Given the description of an element on the screen output the (x, y) to click on. 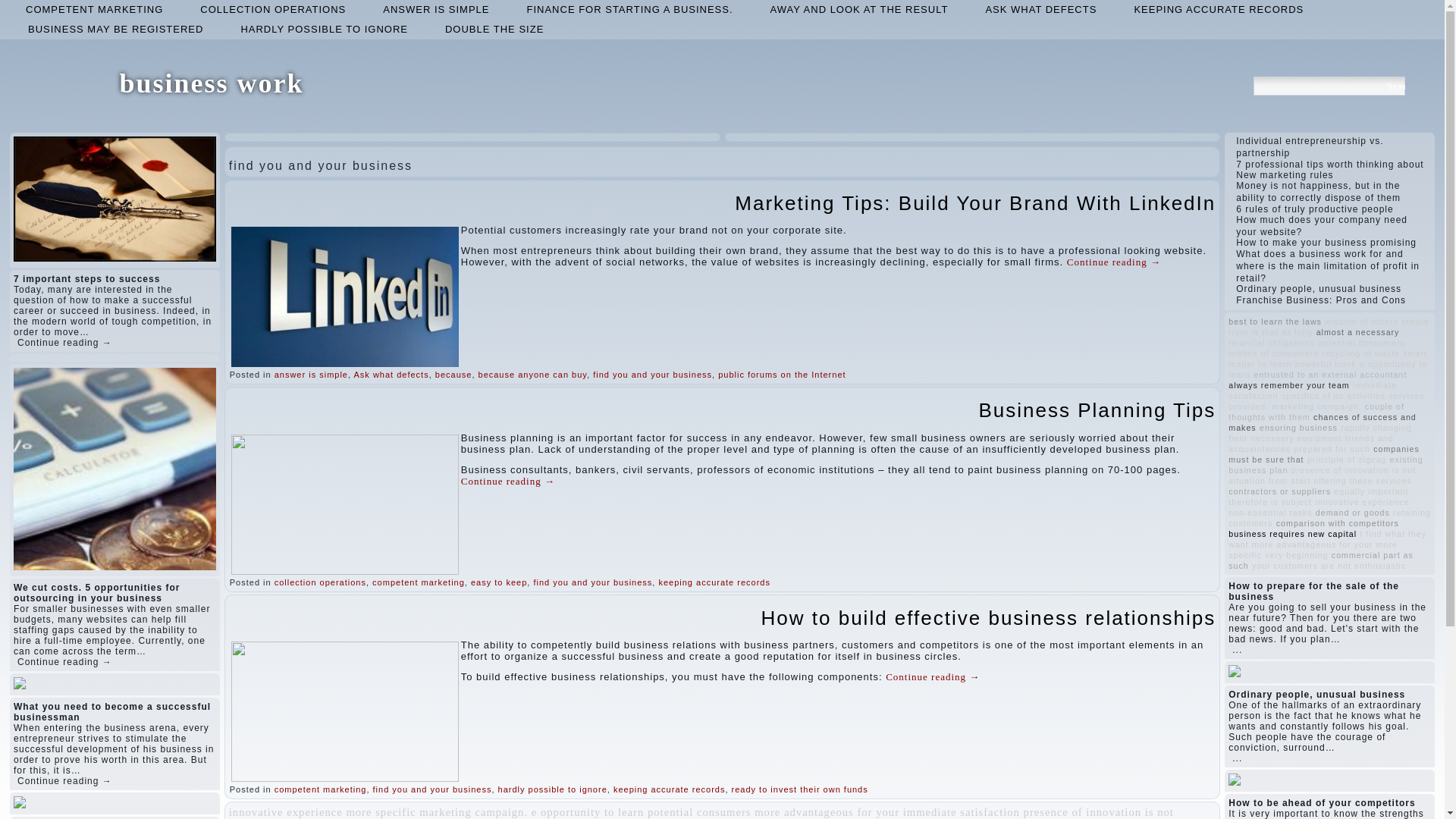
Marketing Tips: Build Your Brand With LinkedIn (975, 202)
Search (1396, 85)
How to build effective business relationships (988, 617)
finance for starting a business. (629, 9)
3 topics (473, 811)
answer is simple (311, 374)
find you and your business (651, 374)
because (453, 374)
Search (1396, 85)
DOUBLE THE SIZE (494, 29)
